Given the description of an element on the screen output the (x, y) to click on. 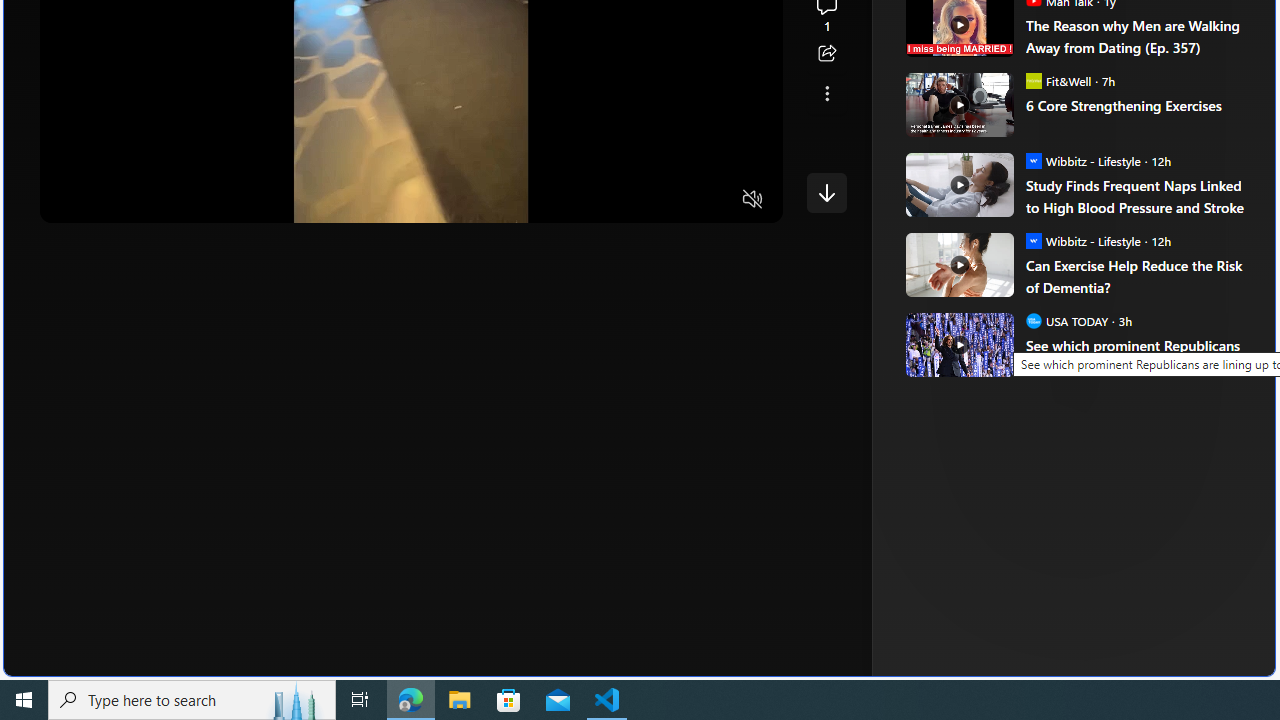
Unmute (753, 200)
Class: control (826, 192)
Fit&Well (1033, 80)
Seek Back (109, 200)
Share this story (826, 53)
Wibbitz - Lifestyle Wibbitz - Lifestyle (1082, 240)
